Given the description of an element on the screen output the (x, y) to click on. 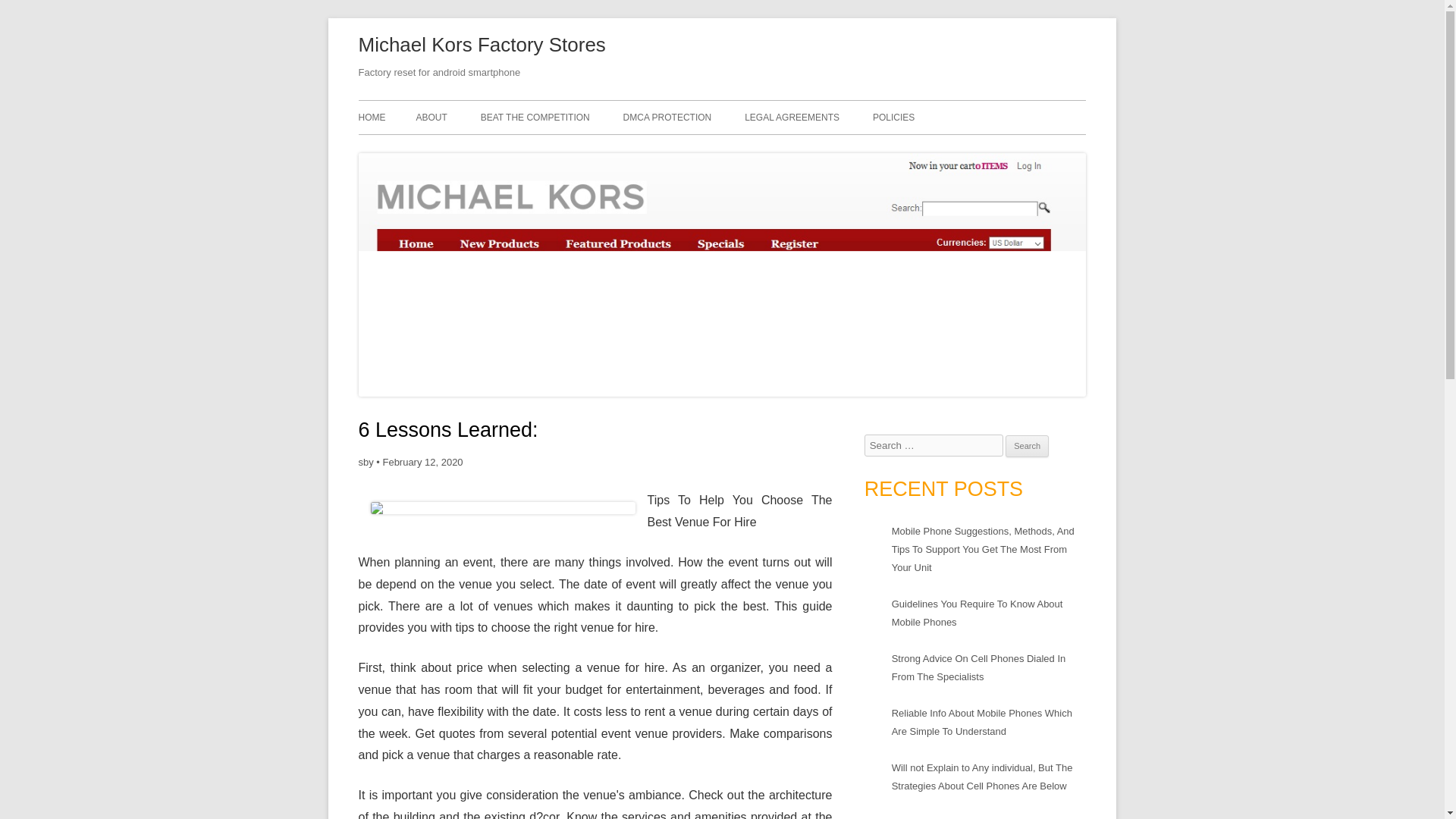
Michael Kors Factory Stores (481, 45)
Michael Kors Factory Stores (481, 45)
Search (1027, 445)
Search (1027, 445)
Guidelines You Require To Know About Mobile Phones (976, 613)
ABOUT (430, 117)
7:21 pm (422, 461)
Strong Advice On Cell Phones Dialed In From The Specialists (978, 667)
BEAT THE COMPETITION (534, 117)
